Given the description of an element on the screen output the (x, y) to click on. 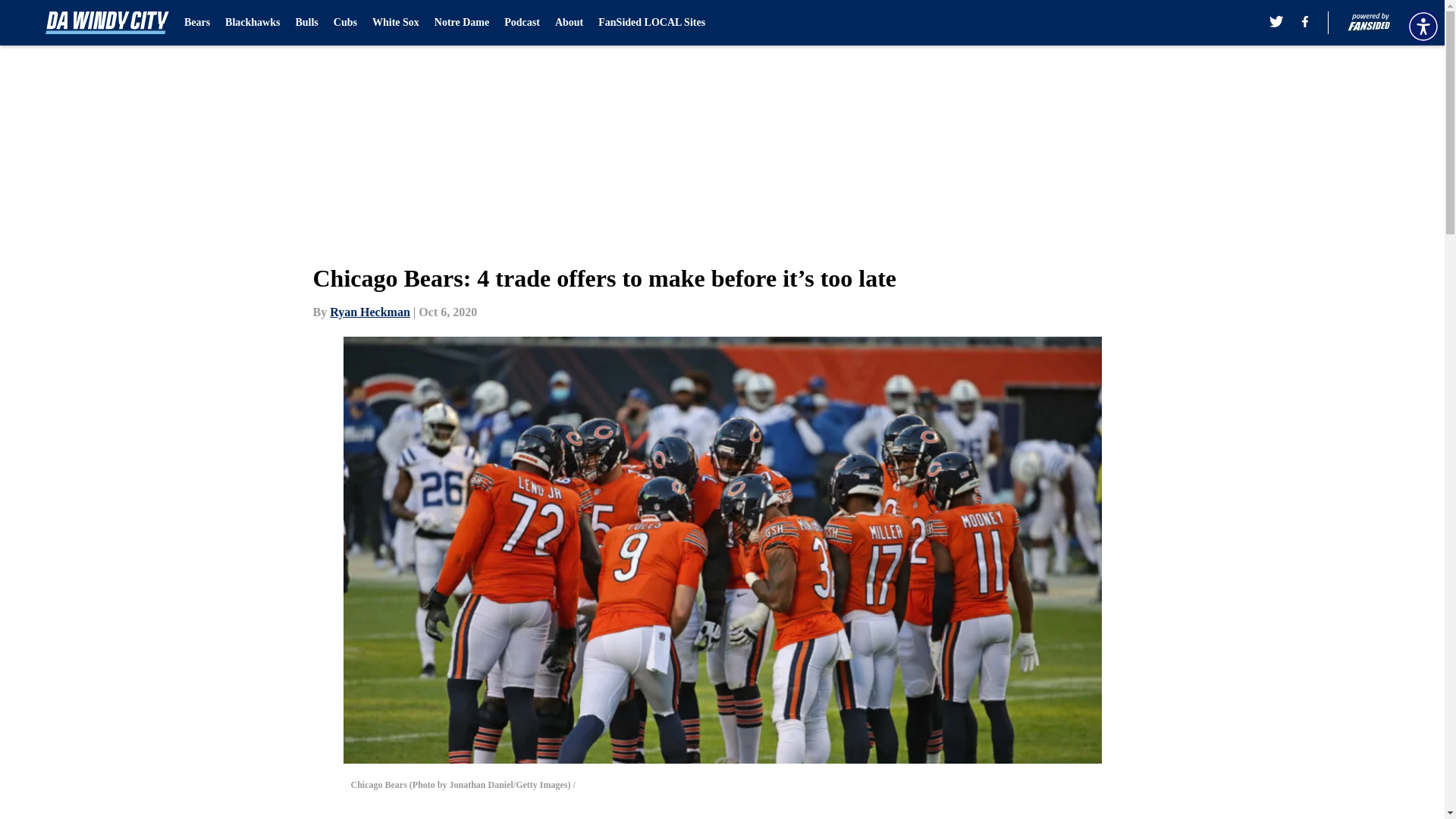
About (568, 22)
Ryan Heckman (370, 311)
Bulls (306, 22)
FanSided LOCAL Sites (651, 22)
Bears (196, 22)
Blackhawks (252, 22)
Podcast (521, 22)
Notre Dame (461, 22)
White Sox (395, 22)
Cubs (344, 22)
Accessibility Menu (1422, 26)
